Given the description of an element on the screen output the (x, y) to click on. 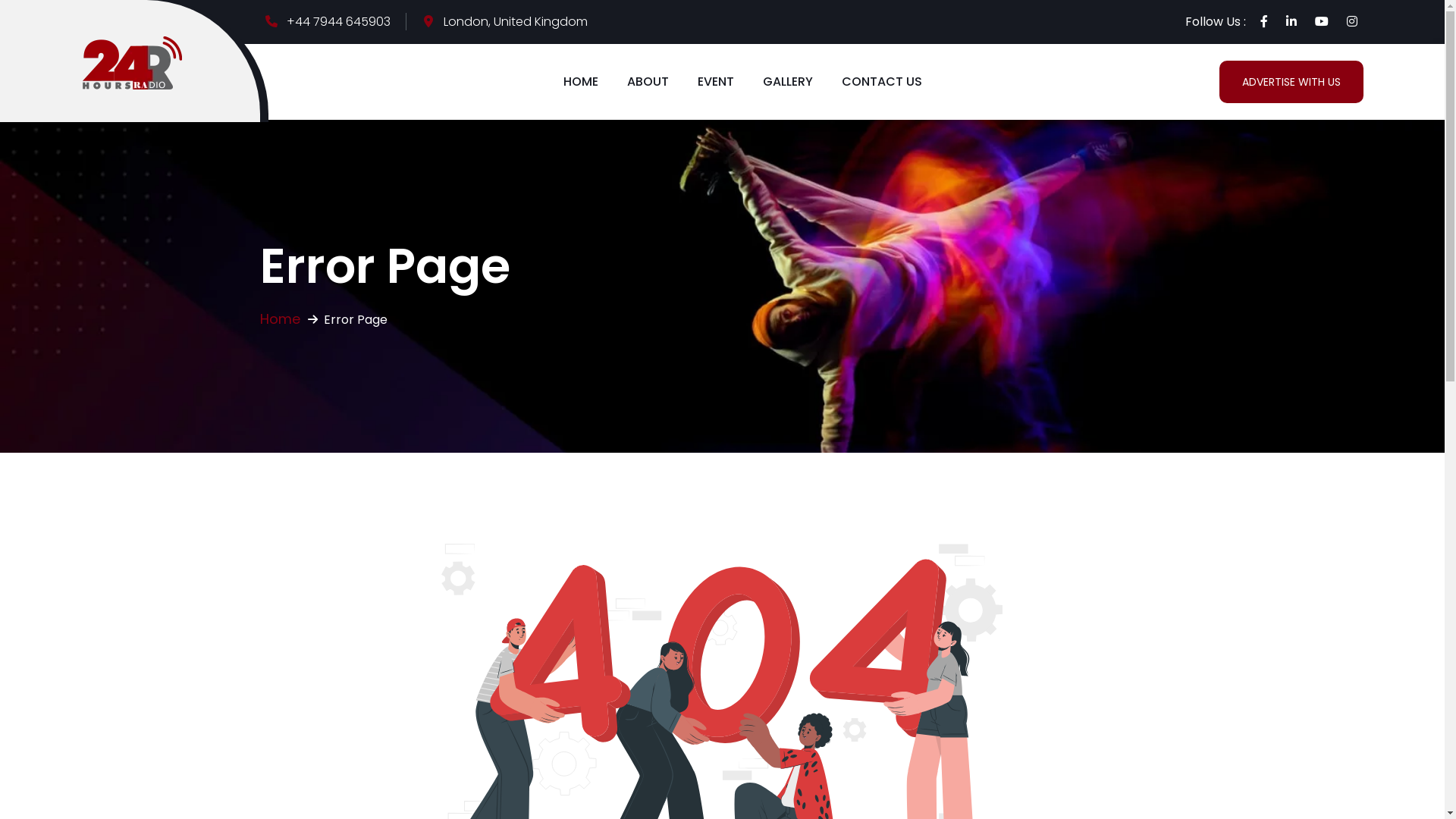
Home Element type: text (279, 318)
GALLERY Element type: text (787, 81)
ABOUT Element type: text (647, 81)
+44 7944 645903 Element type: text (346, 21)
EVENT Element type: text (715, 81)
ADVERTISE WITH US Element type: text (1291, 81)
HOME Element type: text (579, 81)
CONTACT US Element type: text (881, 81)
